Given the description of an element on the screen output the (x, y) to click on. 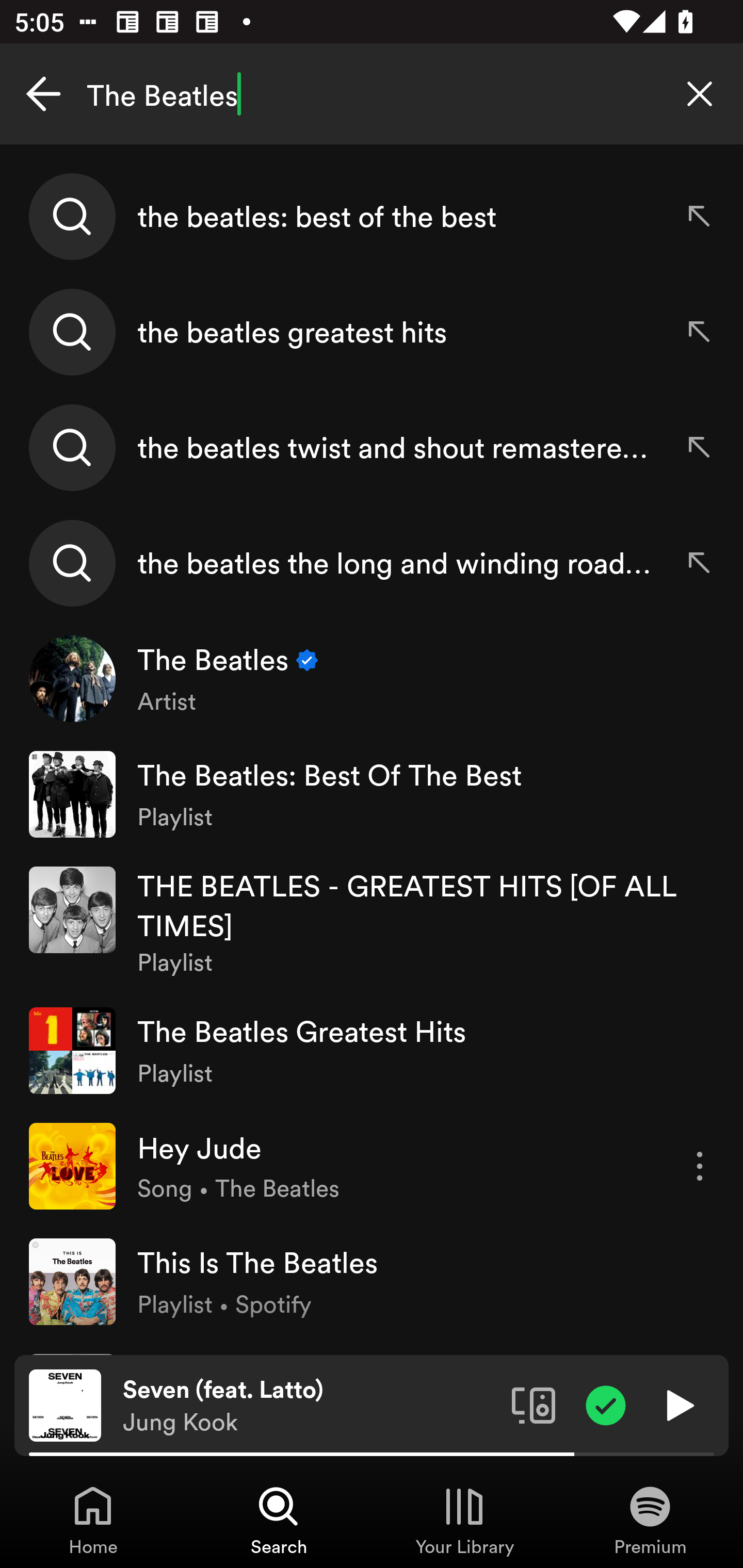
The Beatles (371, 93)
Cancel (43, 93)
Clear search query (699, 93)
the beatles: best of the best (371, 216)
the beatles greatest hits (371, 332)
the beatles twist and shout remastered 2009 (371, 447)
The Beatles Verified Artist (371, 678)
The Beatles: Best Of The Best Playlist (371, 793)
The Beatles Greatest Hits Playlist (371, 1050)
More options for song Hey Jude (699, 1165)
This Is The Beatles Playlist • Spotify (371, 1281)
Seven (feat. Latto) Jung Kook (309, 1405)
The cover art of the currently playing track (64, 1404)
Connect to a device. Opens the devices menu (533, 1404)
Item added (605, 1404)
Play (677, 1404)
Home, Tab 1 of 4 Home Home (92, 1519)
Search, Tab 2 of 4 Search Search (278, 1519)
Your Library, Tab 3 of 4 Your Library Your Library (464, 1519)
Premium, Tab 4 of 4 Premium Premium (650, 1519)
